Given the description of an element on the screen output the (x, y) to click on. 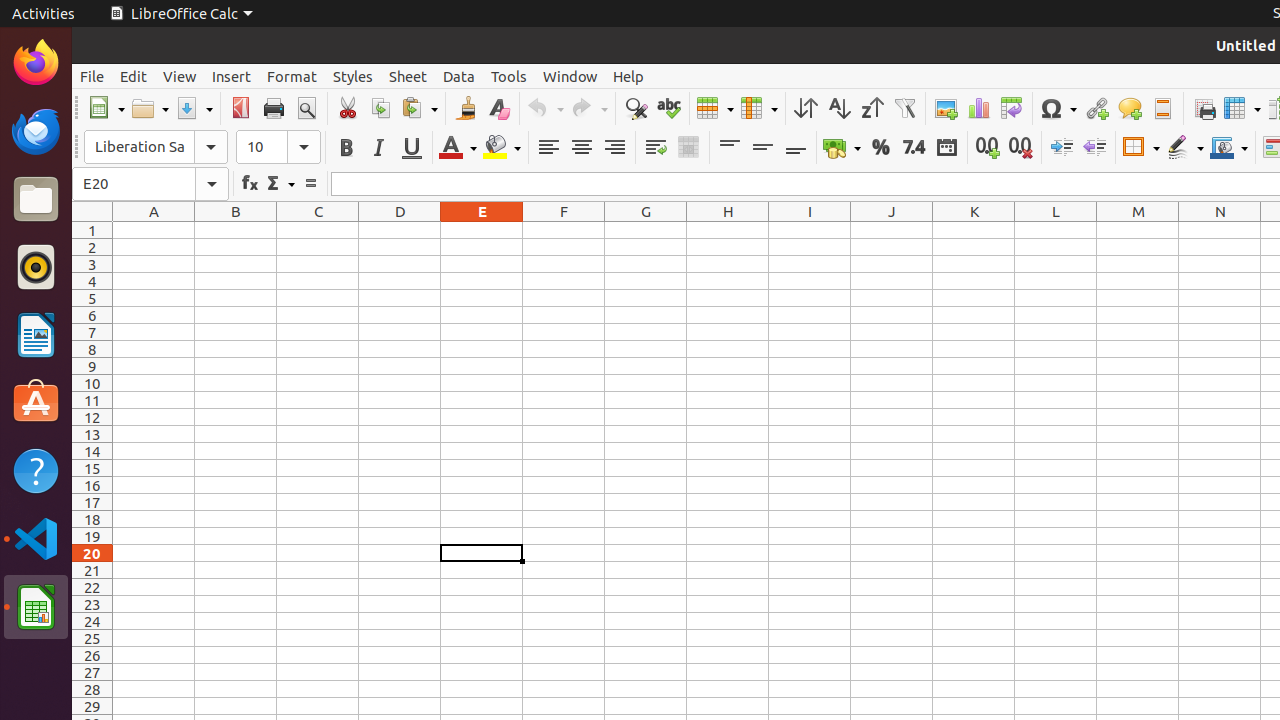
Merge and Center Cells Element type: push-button (688, 147)
M1 Element type: table-cell (1138, 230)
Save Element type: push-button (194, 108)
Font Name Element type: combo-box (156, 147)
Name Box Element type: combo-box (150, 184)
